Given the description of an element on the screen output the (x, y) to click on. 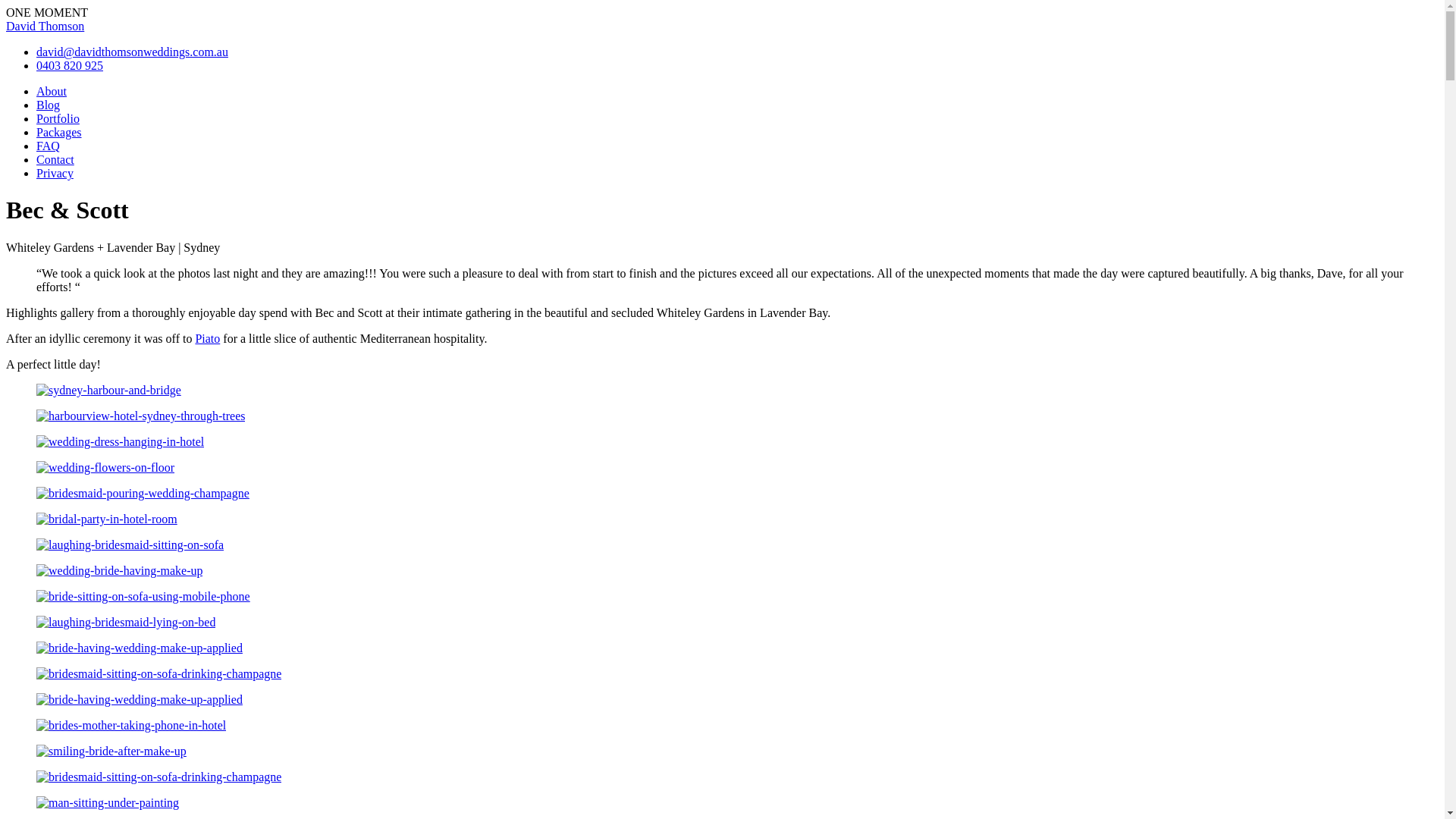
Privacy Element type: text (54, 172)
Contact Element type: text (55, 159)
Packages Element type: text (58, 131)
0403 820 925 Element type: text (69, 65)
FAQ Element type: text (47, 145)
David Thomson Element type: text (45, 25)
Portfolio Element type: text (57, 118)
About Element type: text (51, 90)
Blog Element type: text (47, 104)
david@davidthomsonweddings.com.au Element type: text (132, 51)
Piato Element type: text (206, 338)
